Given the description of an element on the screen output the (x, y) to click on. 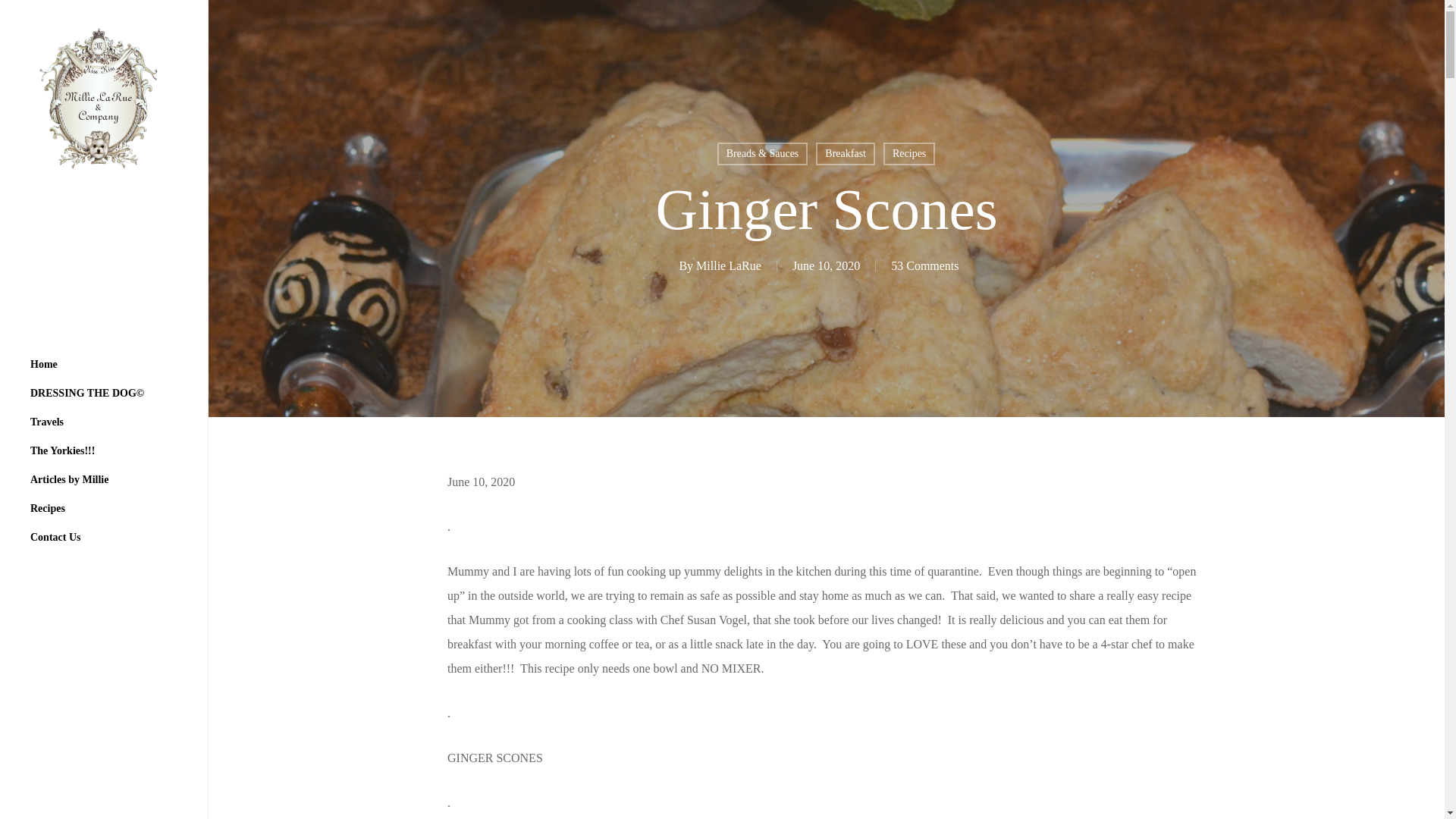
Articles by Millie (69, 480)
The Yorkies!!! (62, 451)
53 Comments (924, 265)
Recipes (47, 508)
An Epic Tale (87, 393)
Millie LaRue (728, 265)
Travels (47, 421)
Recipes (908, 153)
Posts by Millie LaRue (728, 265)
Home (44, 364)
Breakfast (845, 153)
Contact Us (55, 537)
